Given the description of an element on the screen output the (x, y) to click on. 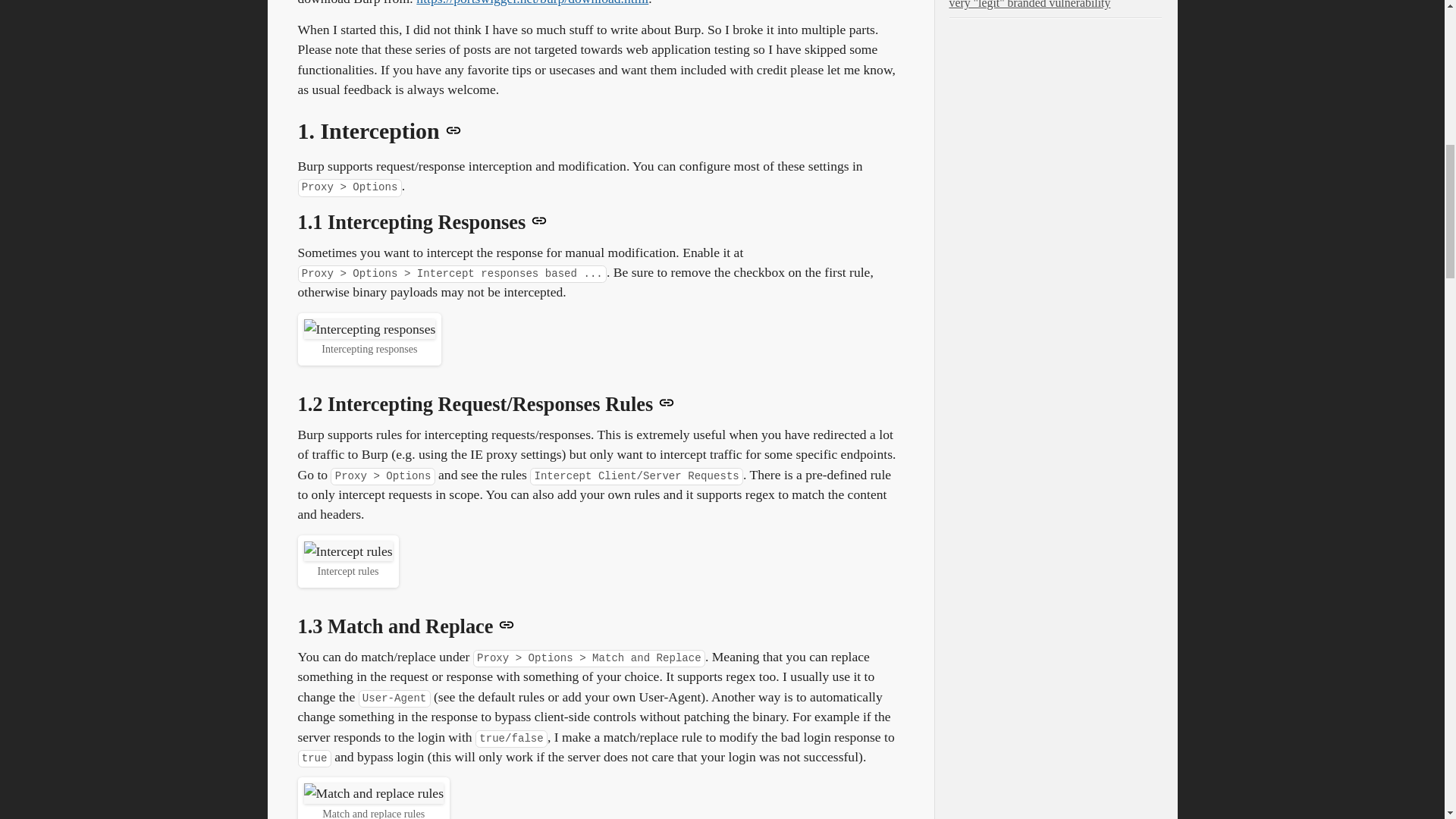
Match and replace rules (373, 792)
Intercepting responses (368, 329)
Intercept rules (346, 551)
